Given the description of an element on the screen output the (x, y) to click on. 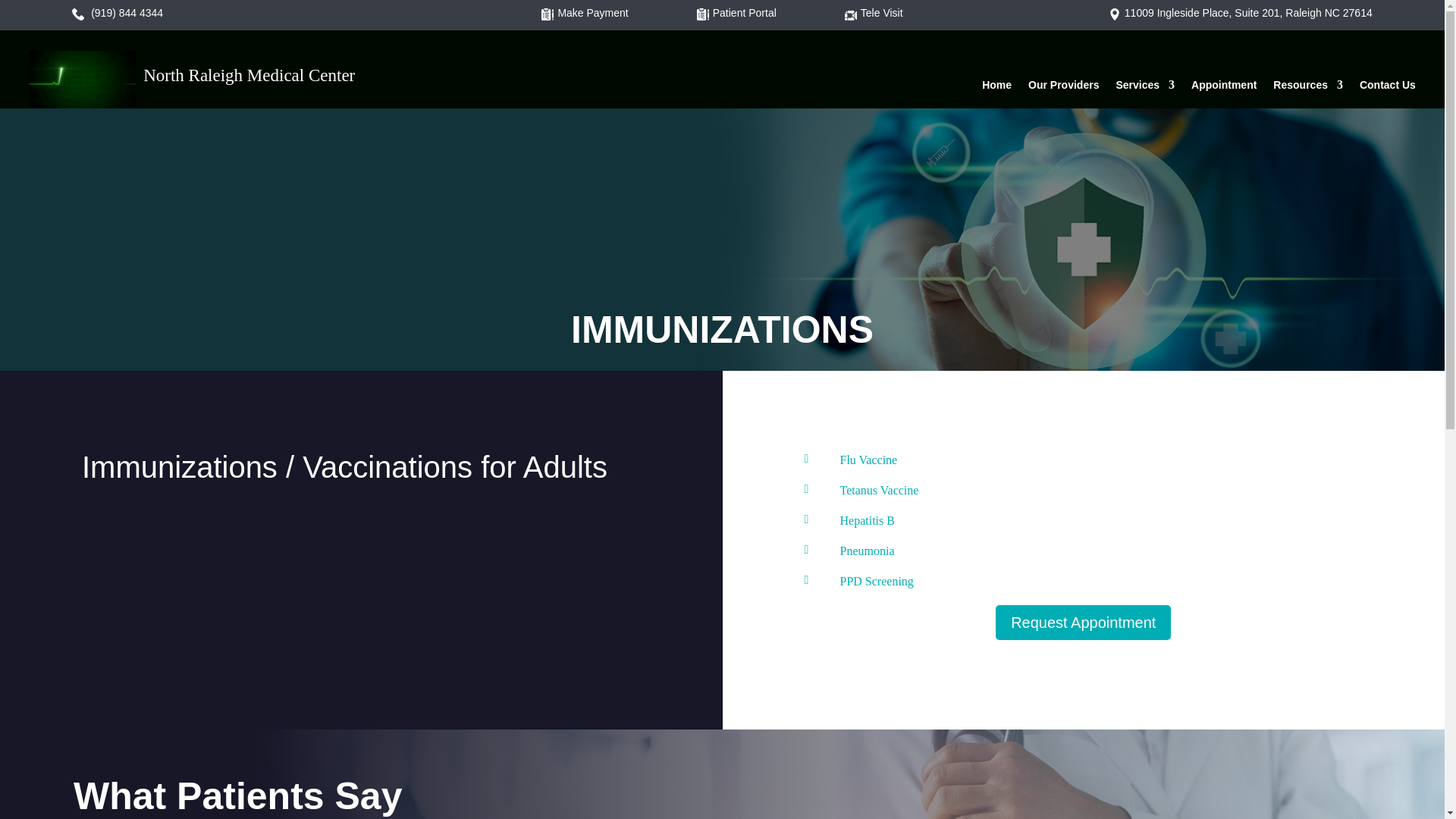
Services (1144, 87)
Contact Us (1387, 87)
Home (996, 87)
Make Payment (609, 12)
Patient Portal (761, 12)
11009 Ingleside Place, Suite 201, Raleigh NC 27614 (1248, 12)
Our Providers (1063, 87)
Resources (1307, 87)
Appointment (1223, 87)
Tele Visit (898, 12)
